Given the description of an element on the screen output the (x, y) to click on. 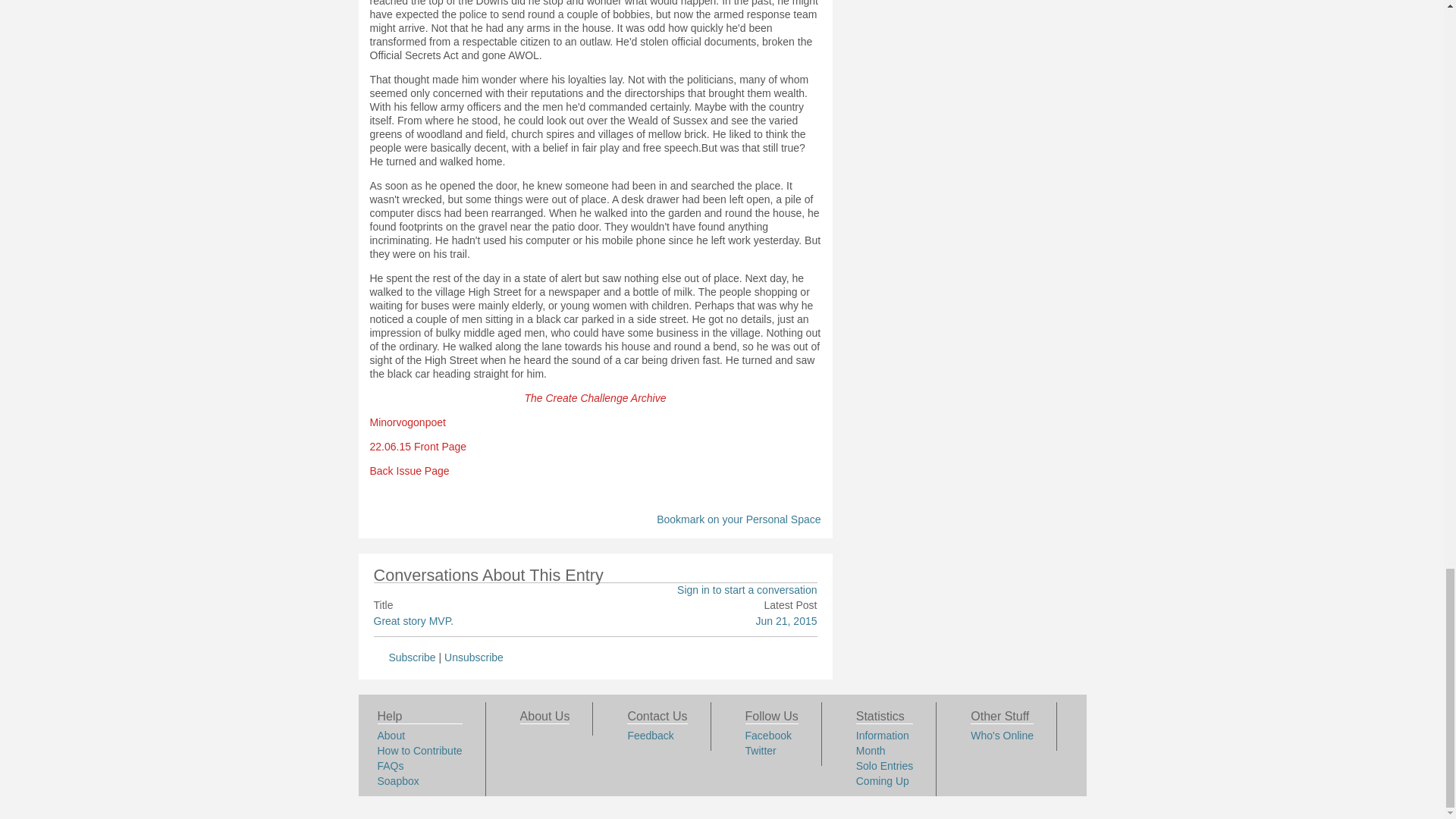
Bookmark on your Personal Space (738, 519)
Minorvogonpoet (407, 422)
Unsubscribe (473, 657)
The Create Challenge Archive (594, 398)
Subscribe (411, 657)
22.06.15 Front Page (418, 446)
FAQs (390, 766)
Back Issue Page (409, 470)
Great story MVP. (412, 621)
Feedback (649, 735)
